Given the description of an element on the screen output the (x, y) to click on. 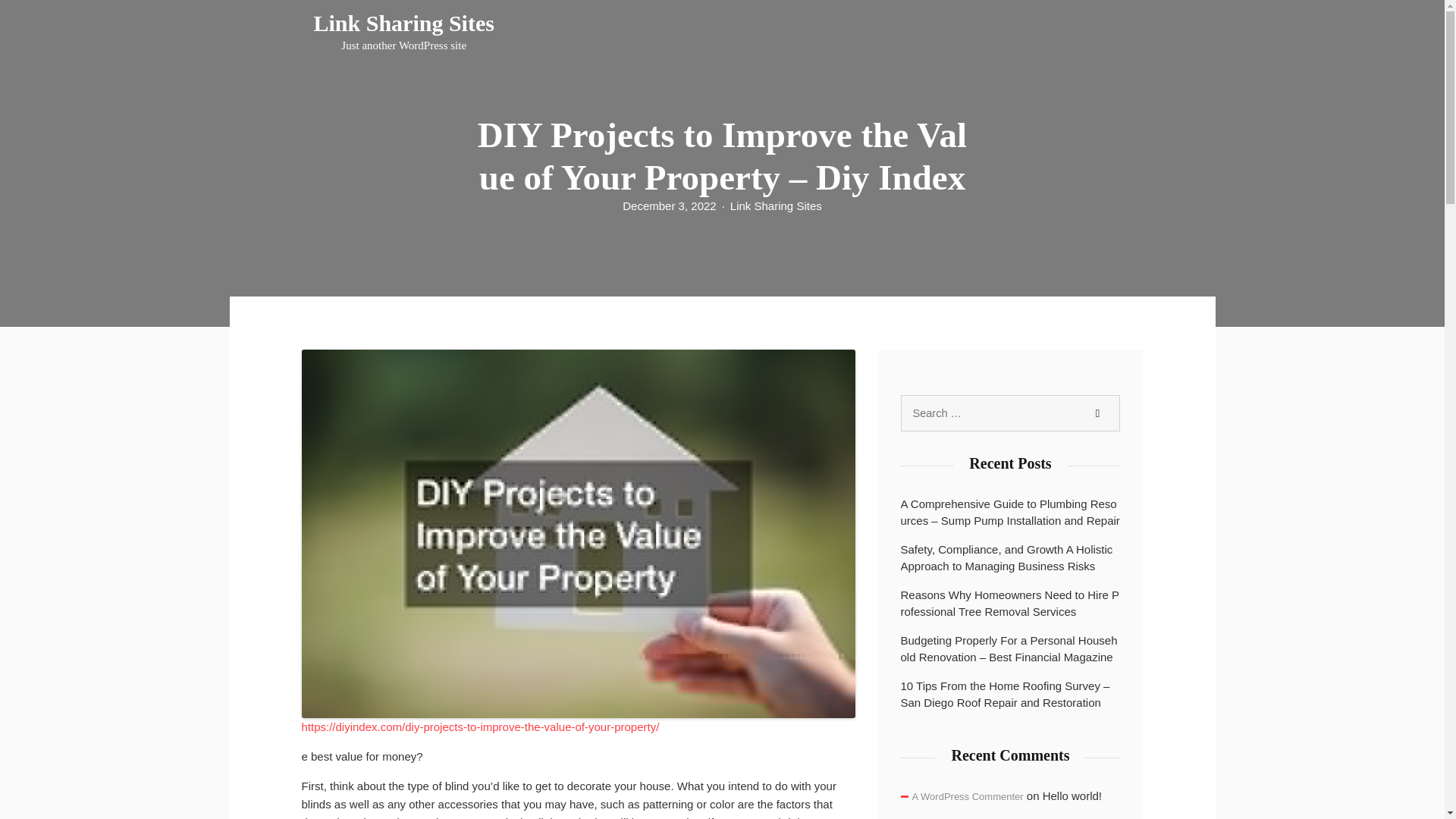
Search (1096, 413)
December 3, 2022 (404, 31)
A WordPress Commenter (669, 205)
Link Sharing Sites (967, 796)
Hello world! (776, 205)
